Given the description of an element on the screen output the (x, y) to click on. 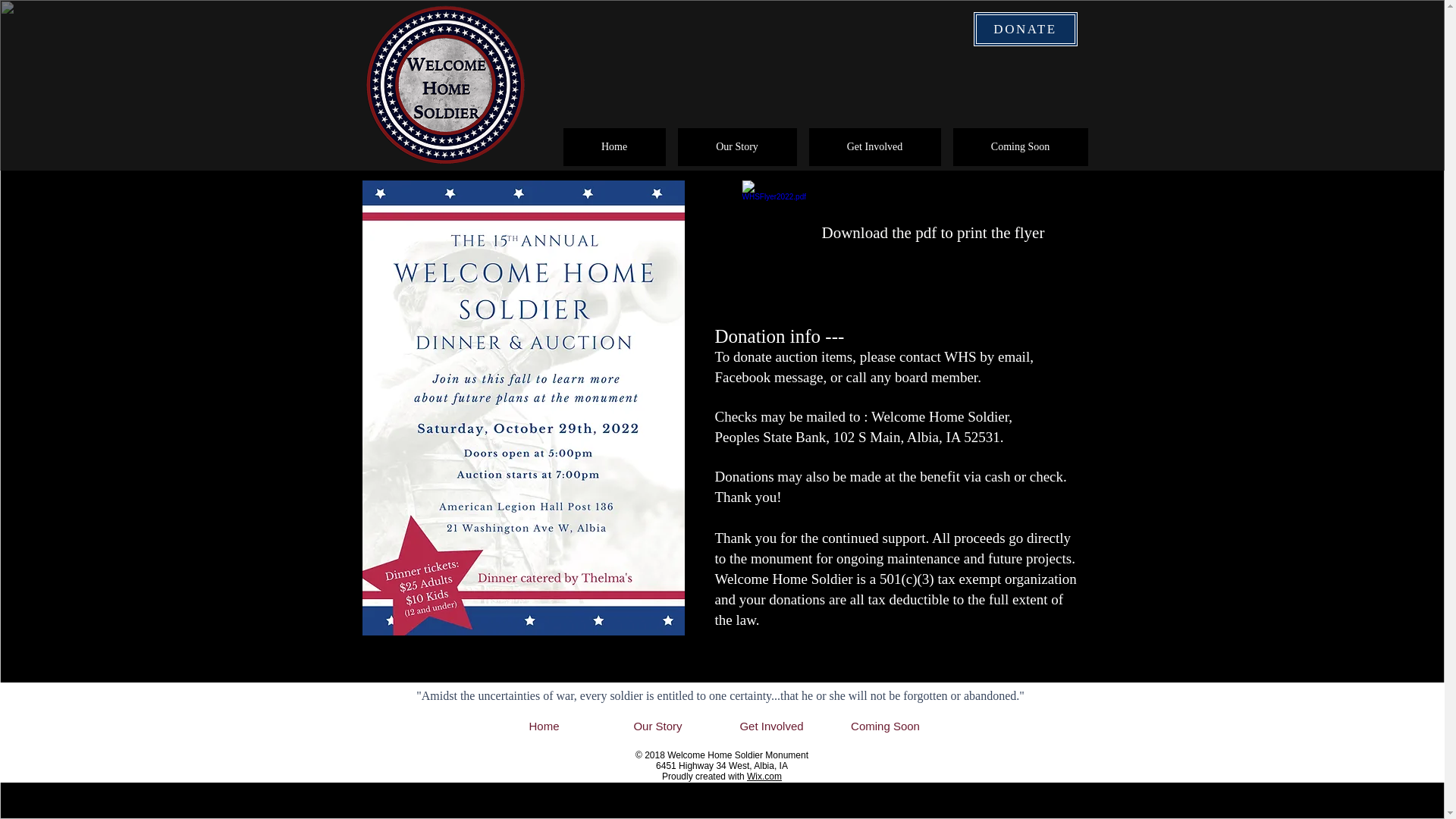
DONATE (1025, 28)
Get Involved (771, 725)
email (1013, 356)
Our Story (737, 146)
Our Story (656, 725)
Coming Soon (885, 725)
Home (613, 146)
Get Involved (874, 146)
Home (542, 725)
Facebook message (768, 376)
